Given the description of an element on the screen output the (x, y) to click on. 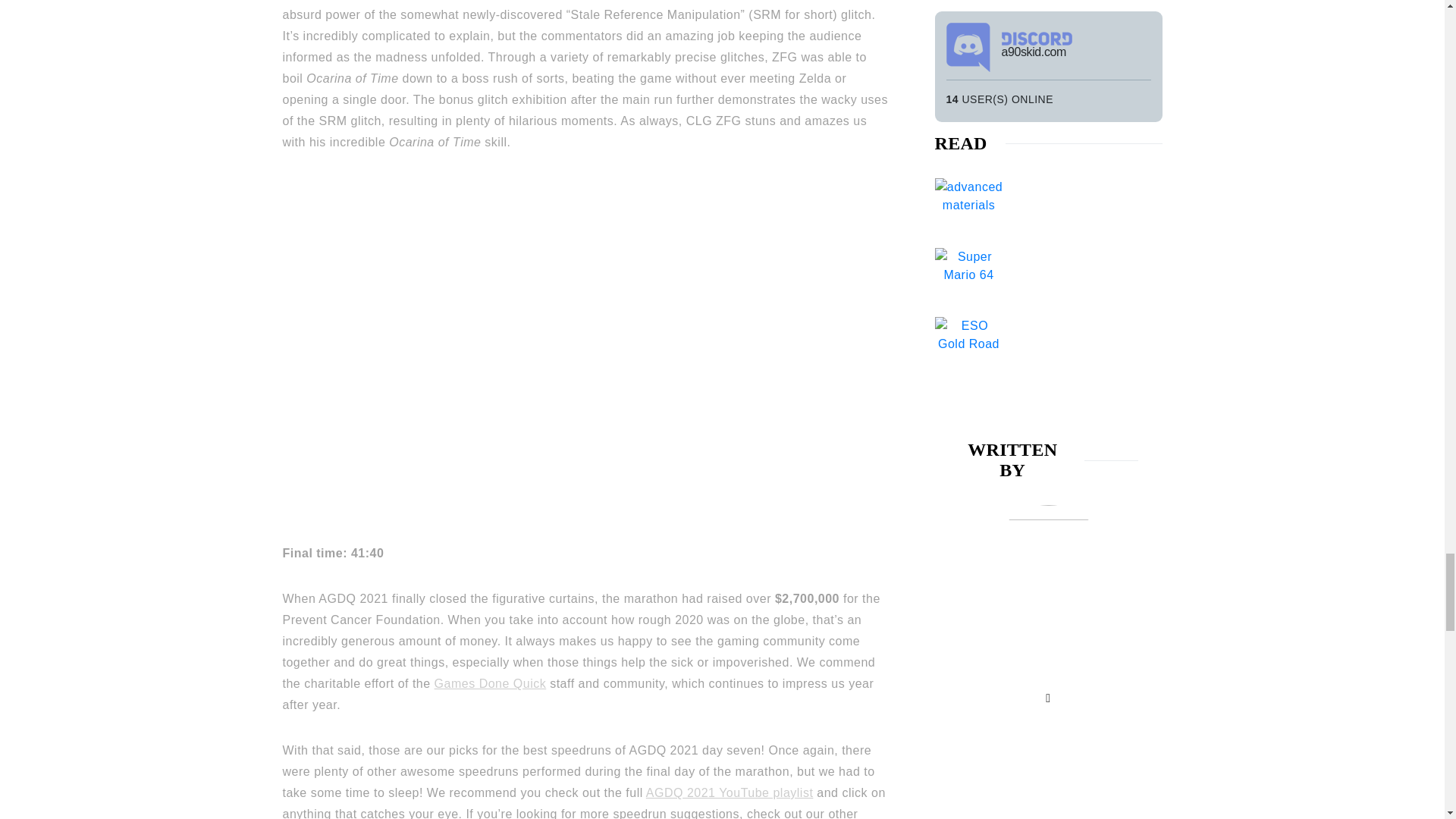
Games Done Quick (490, 683)
AGDQ 2021 YouTube playlist (729, 792)
